Given the description of an element on the screen output the (x, y) to click on. 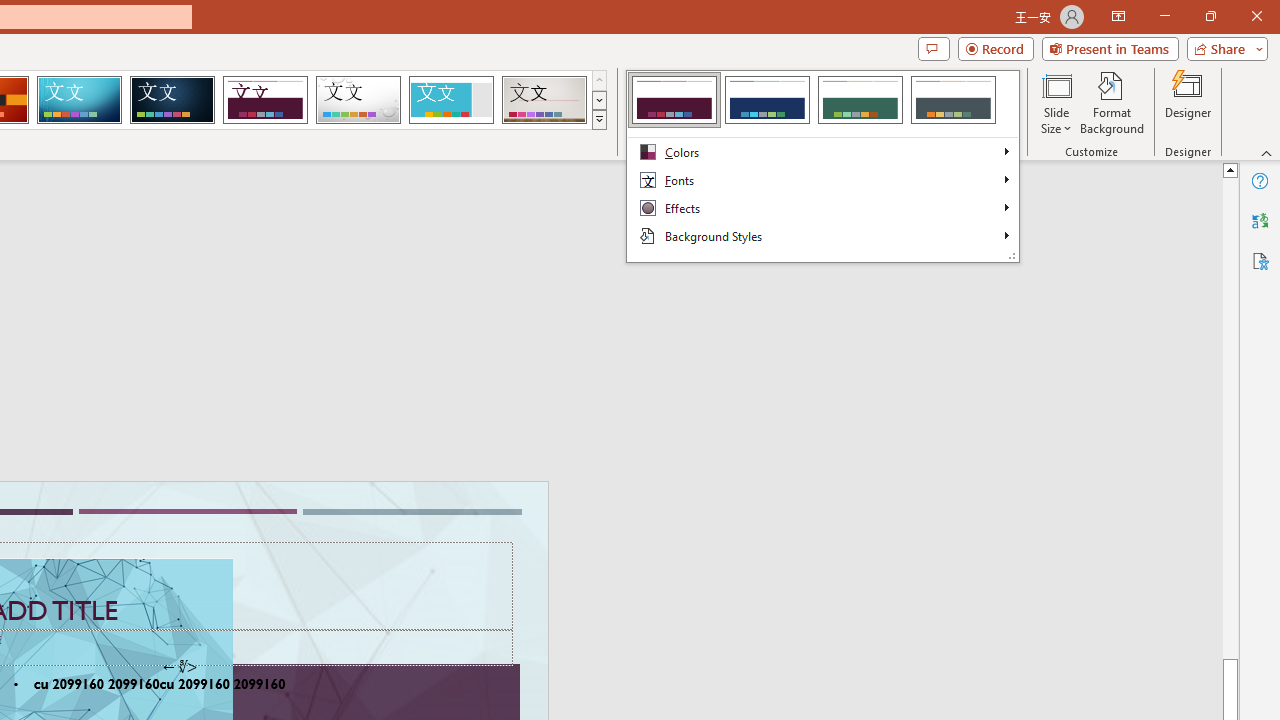
TextBox 61 (186, 686)
Format Background (1111, 102)
Translator (1260, 220)
Slide Size (1056, 102)
Damask (171, 100)
